Given the description of an element on the screen output the (x, y) to click on. 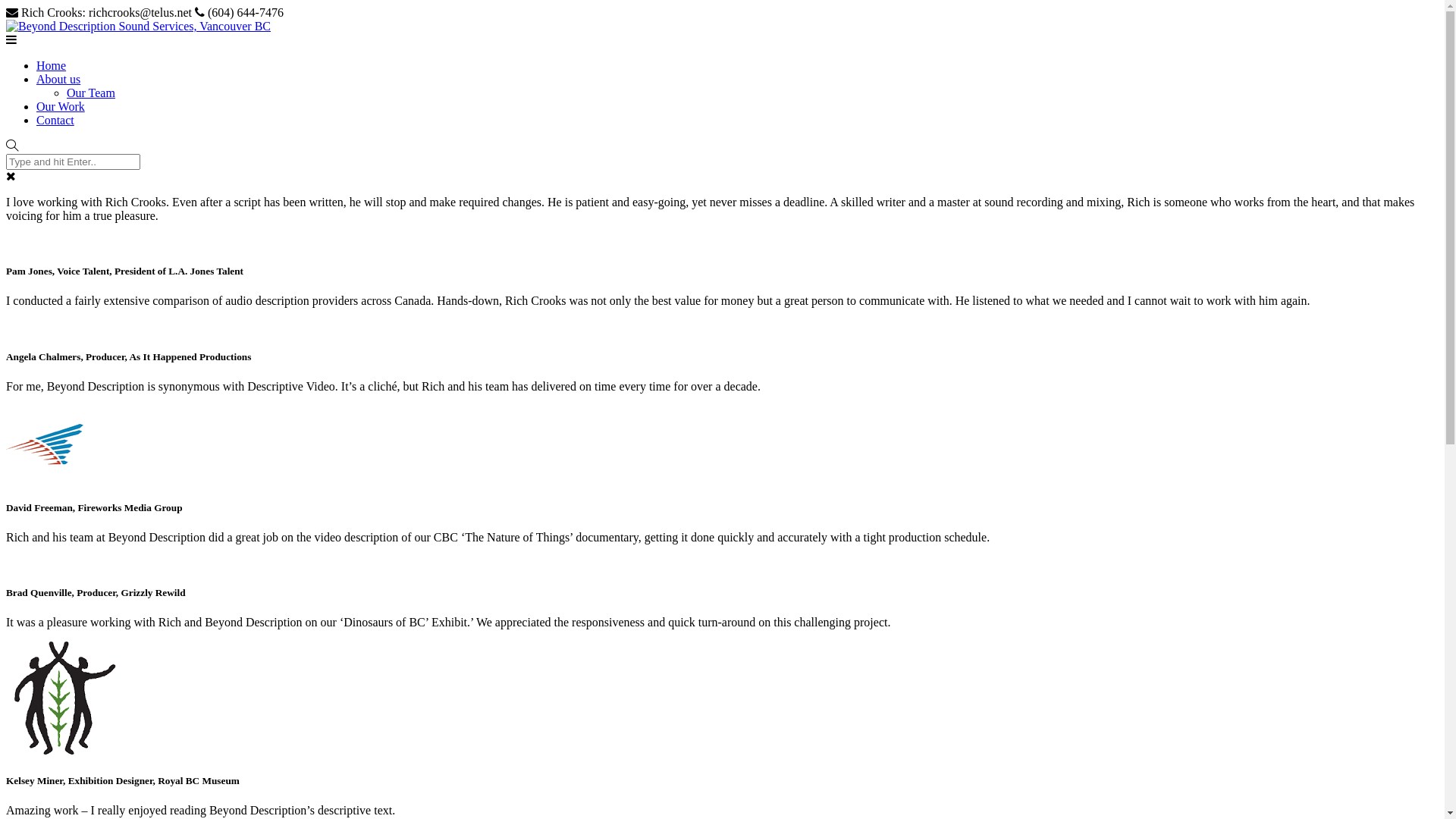
Home Element type: text (50, 65)
Contact Element type: text (55, 119)
Our Team Element type: text (90, 92)
About us Element type: text (58, 78)
Our Work Element type: text (60, 106)
